Given the description of an element on the screen output the (x, y) to click on. 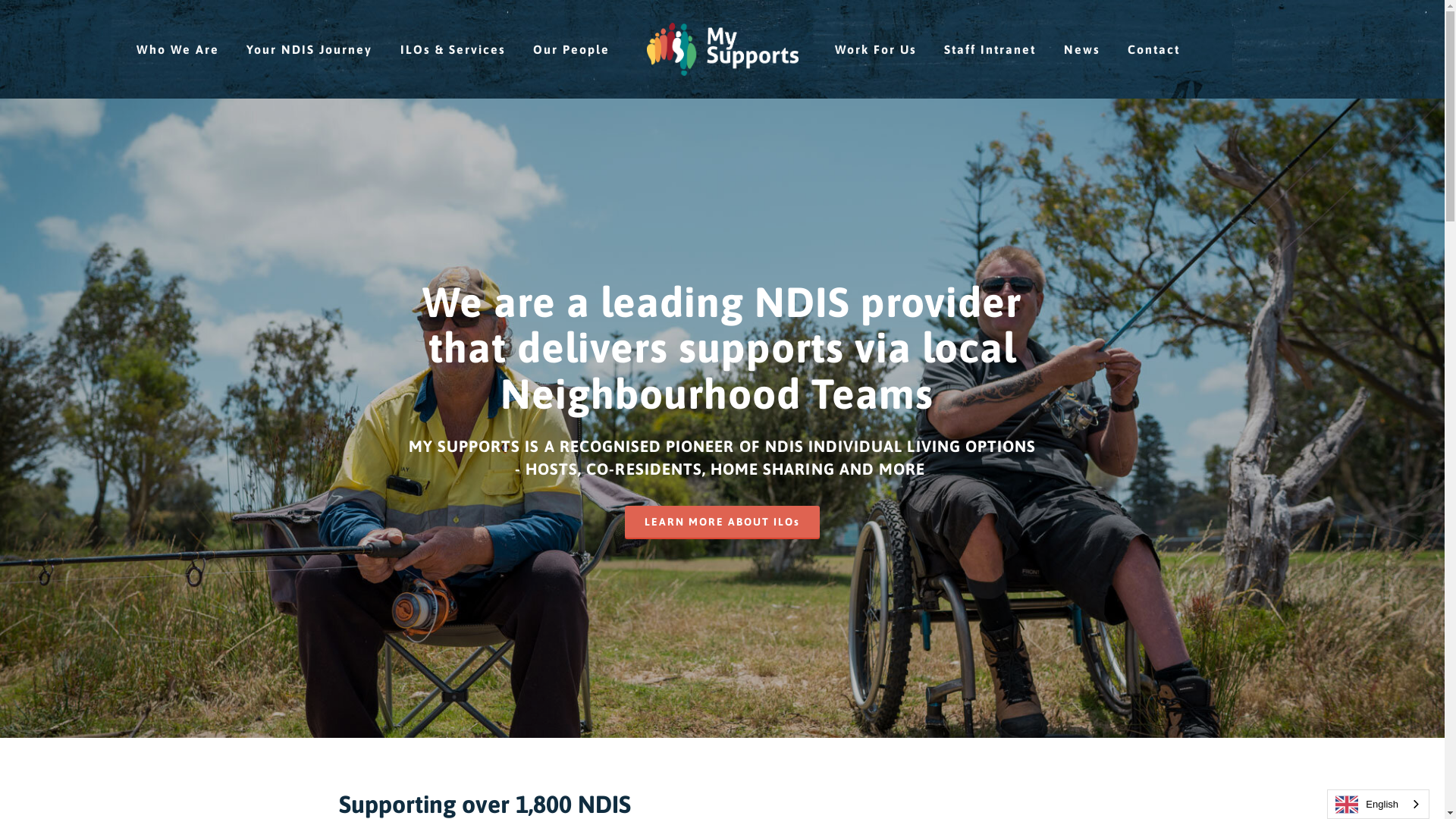
English Element type: text (1377, 804)
Contact Element type: text (1153, 49)
Staff Intranet Element type: text (989, 49)
ILOs & Services Element type: text (452, 49)
Your NDIS Journey Element type: text (309, 49)
News Element type: text (1081, 49)
Work For Us Element type: text (875, 49)
Our People Element type: text (570, 49)
LEARN MORE ABOUT ILOs Element type: text (721, 521)
Who We Are Element type: text (177, 49)
